Given the description of an element on the screen output the (x, y) to click on. 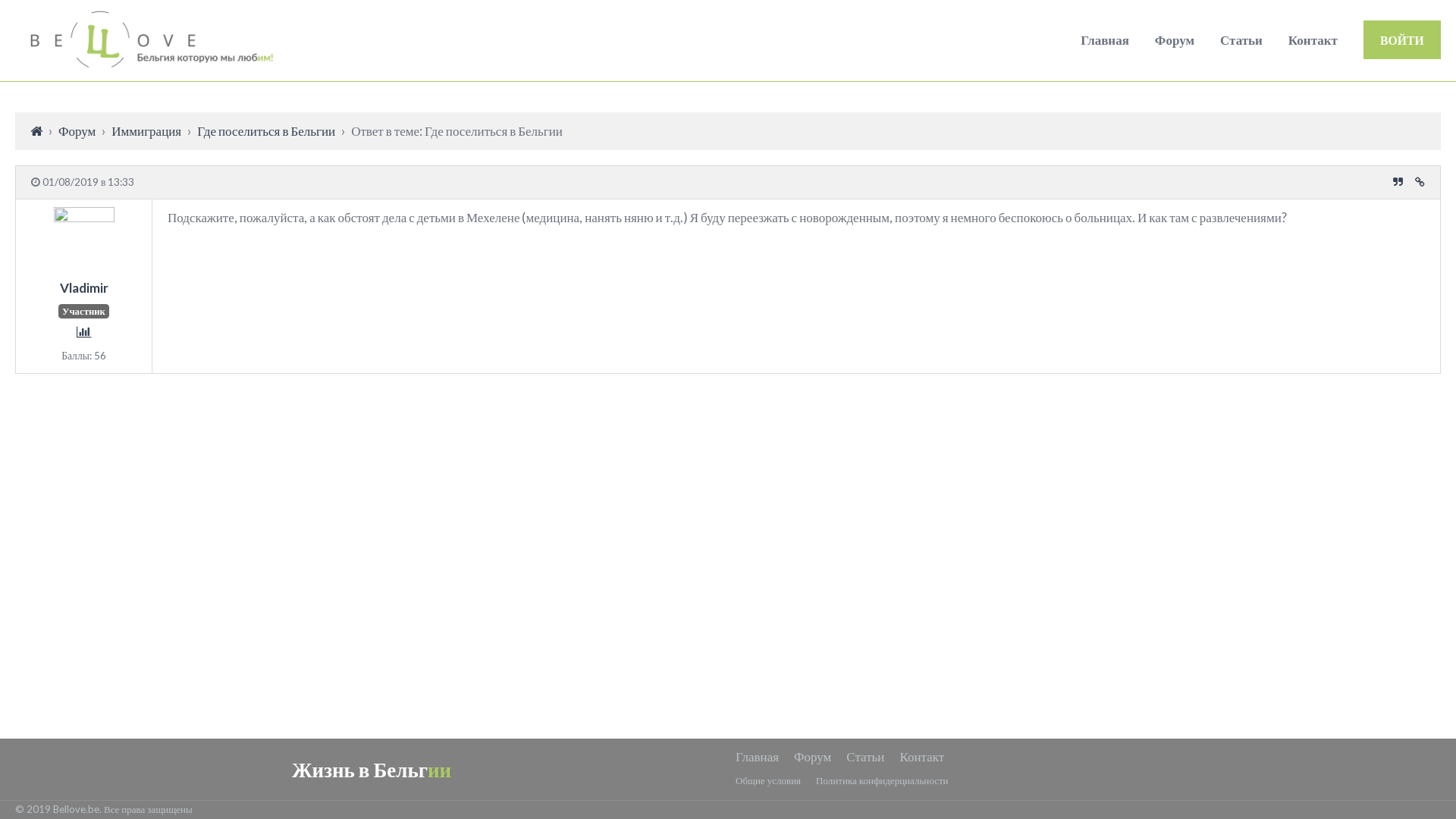
Vladimir Element type: text (83, 297)
